Given the description of an element on the screen output the (x, y) to click on. 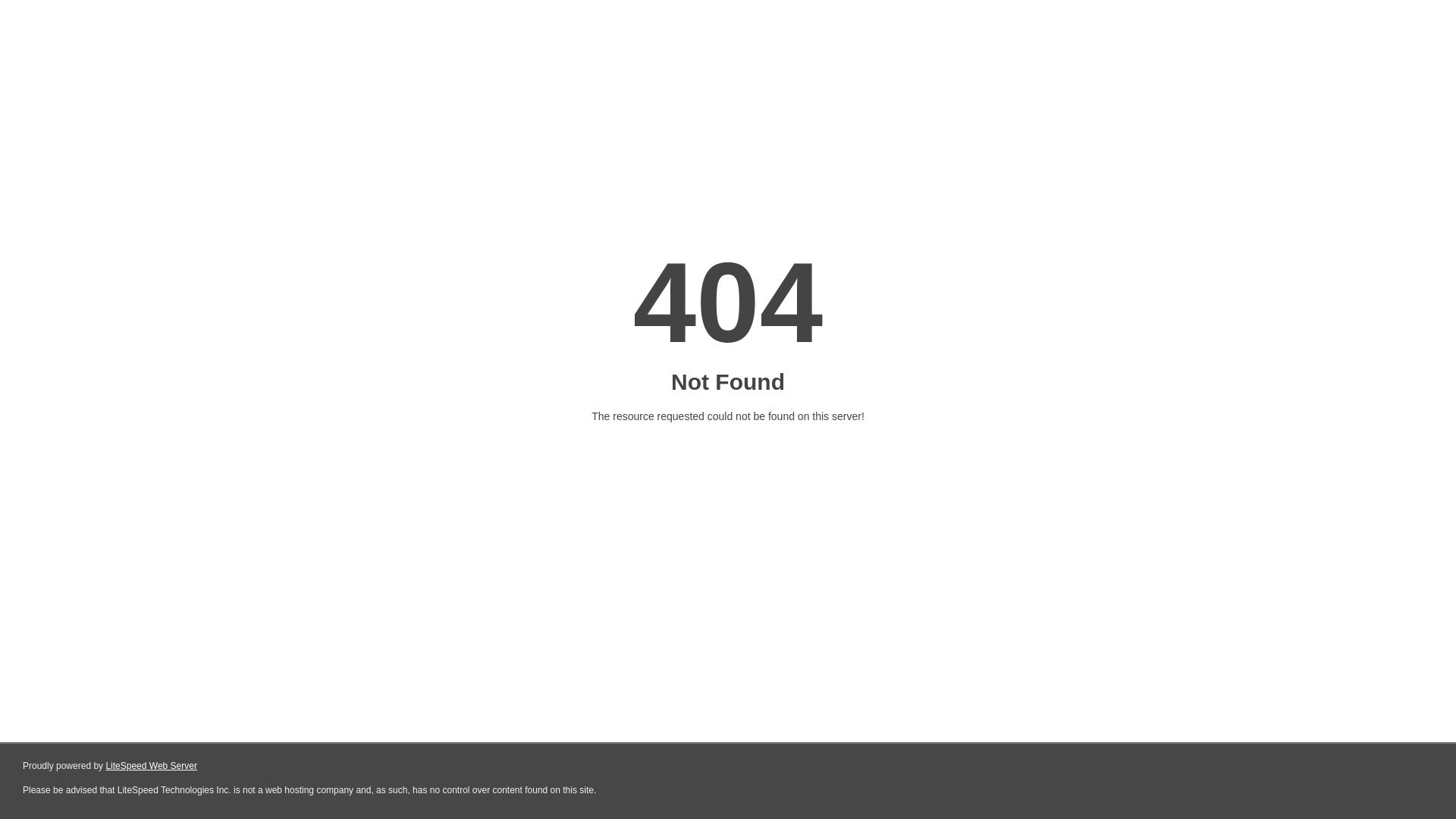
LiteSpeed Web Server Element type: text (151, 765)
